Given the description of an element on the screen output the (x, y) to click on. 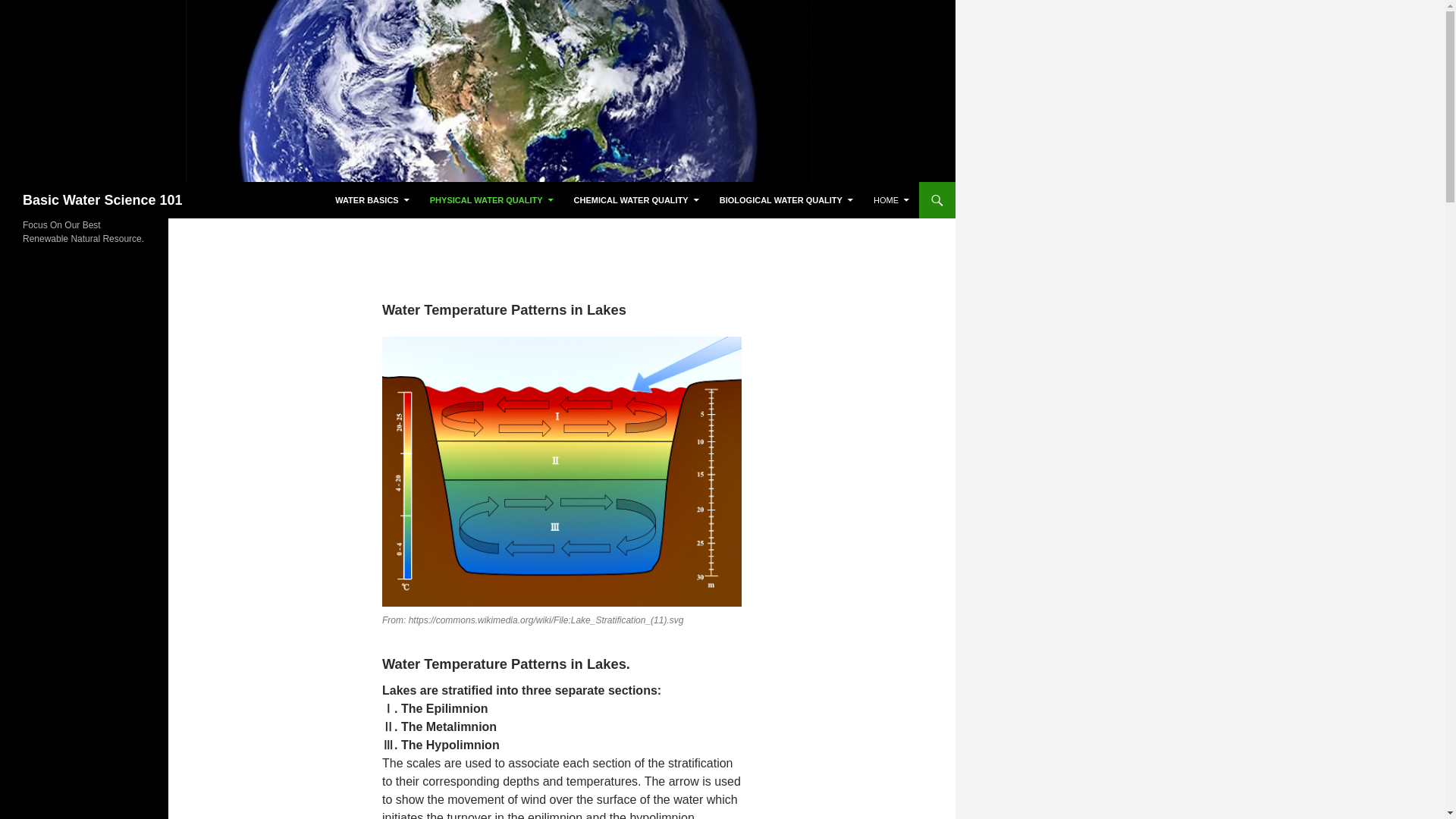
Basic Water Science 101 (102, 199)
PHYSICAL WATER QUALITY (491, 199)
WATER BASICS (372, 199)
Basic Water Science Areas (372, 199)
CHEMICAL WATER QUALITY (635, 199)
Sources of fresh water and common physical measurements (491, 199)
